Given the description of an element on the screen output the (x, y) to click on. 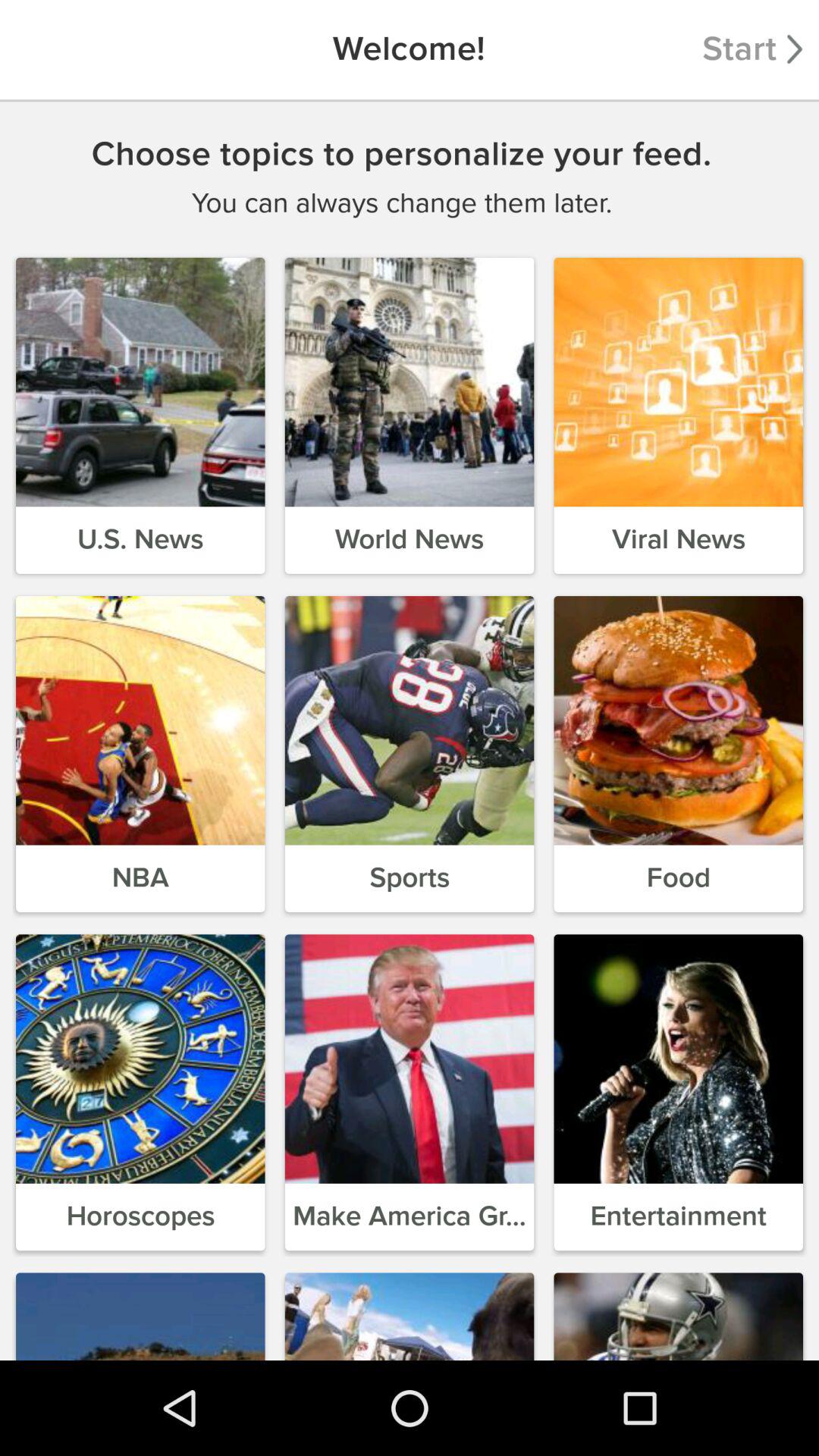
click the first image (140, 381)
select the nbas image (140, 720)
select the ninth image (678, 1058)
select the second image (409, 381)
click on the eight image (409, 1058)
select the seventh item horoscopes (140, 1092)
click the third item viral news (677, 415)
select the second image from the bottom (409, 1312)
